Given the description of an element on the screen output the (x, y) to click on. 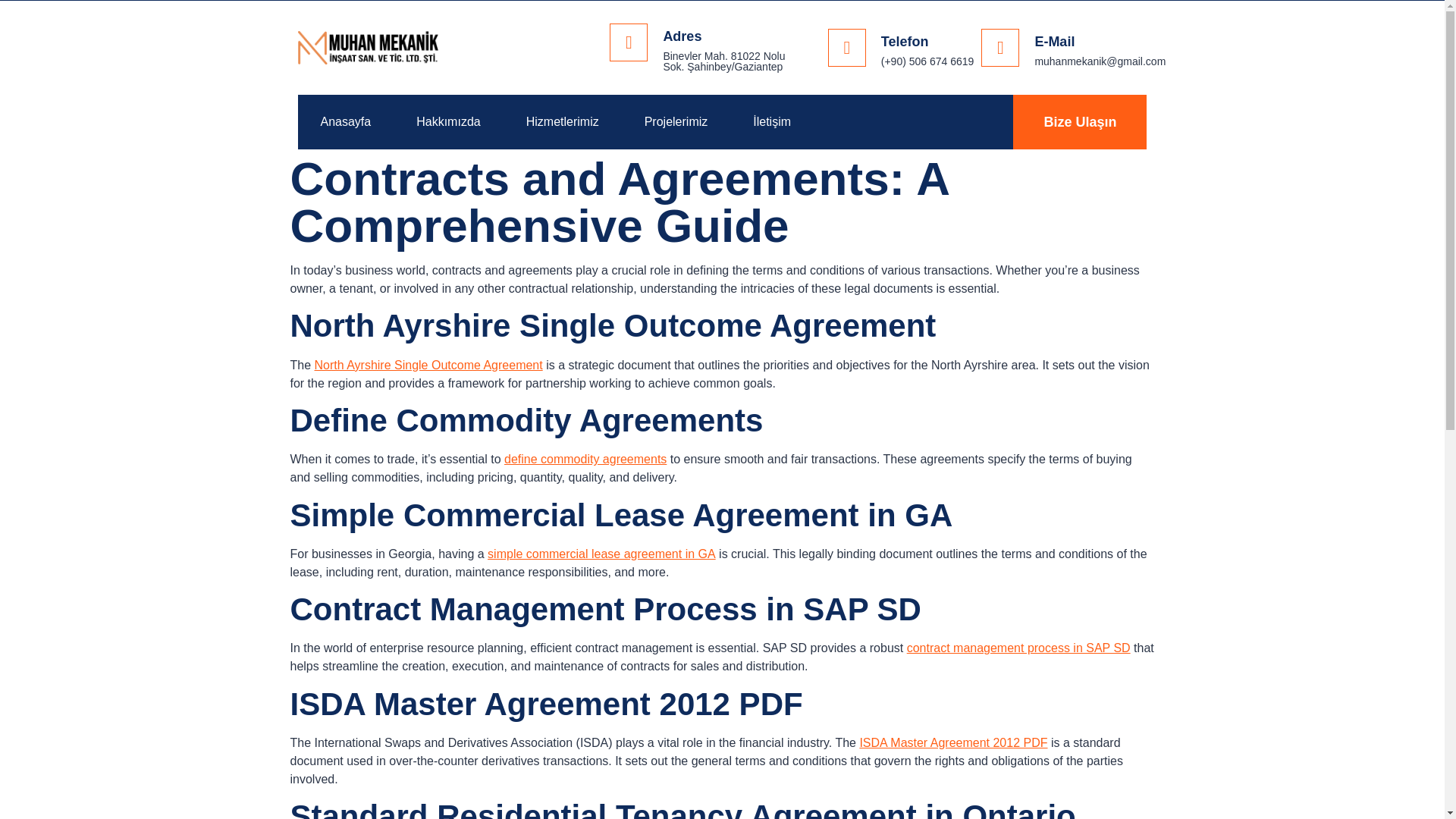
simple commercial lease agreement in GA (601, 553)
ISDA Master Agreement 2012 PDF (952, 742)
contract management process in SAP SD (1019, 647)
define commodity agreements (584, 459)
North Ayrshire Single Outcome Agreement (428, 364)
Hizmetlerimiz (562, 121)
Anasayfa (345, 121)
Projelerimiz (675, 121)
